Given the description of an element on the screen output the (x, y) to click on. 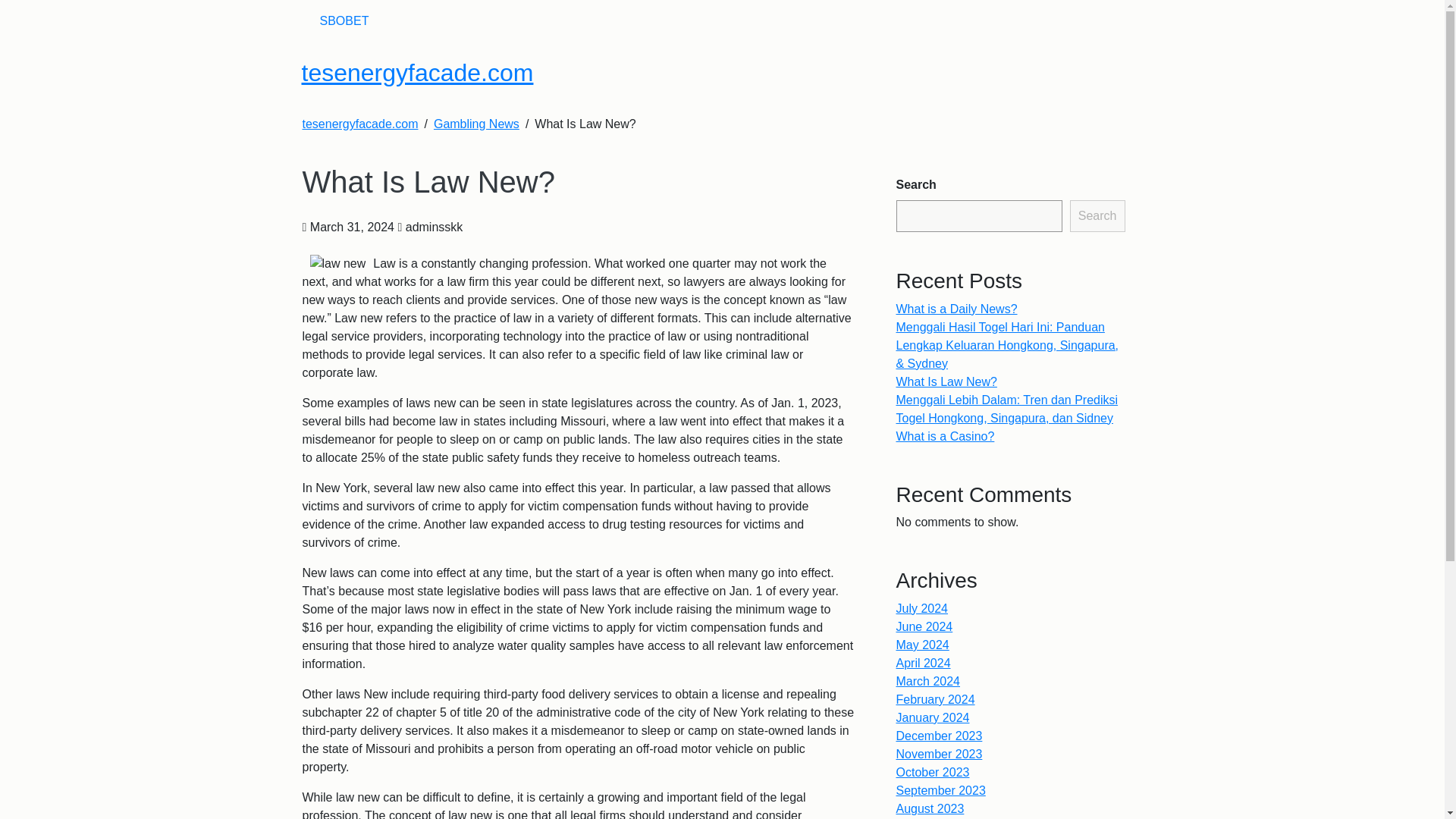
March 2024 (928, 680)
What is a Casino? (945, 436)
SBOBET (344, 20)
October 2023 (932, 771)
tesenergyfacade.com (359, 123)
December 2023 (939, 735)
Search (1097, 215)
September 2023 (940, 789)
February 2024 (935, 698)
April 2024 (923, 662)
Gambling News (476, 123)
November 2023 (939, 753)
What is a Daily News? (956, 308)
tesenergyfacade.com (417, 72)
July 2024 (922, 608)
